Given the description of an element on the screen output the (x, y) to click on. 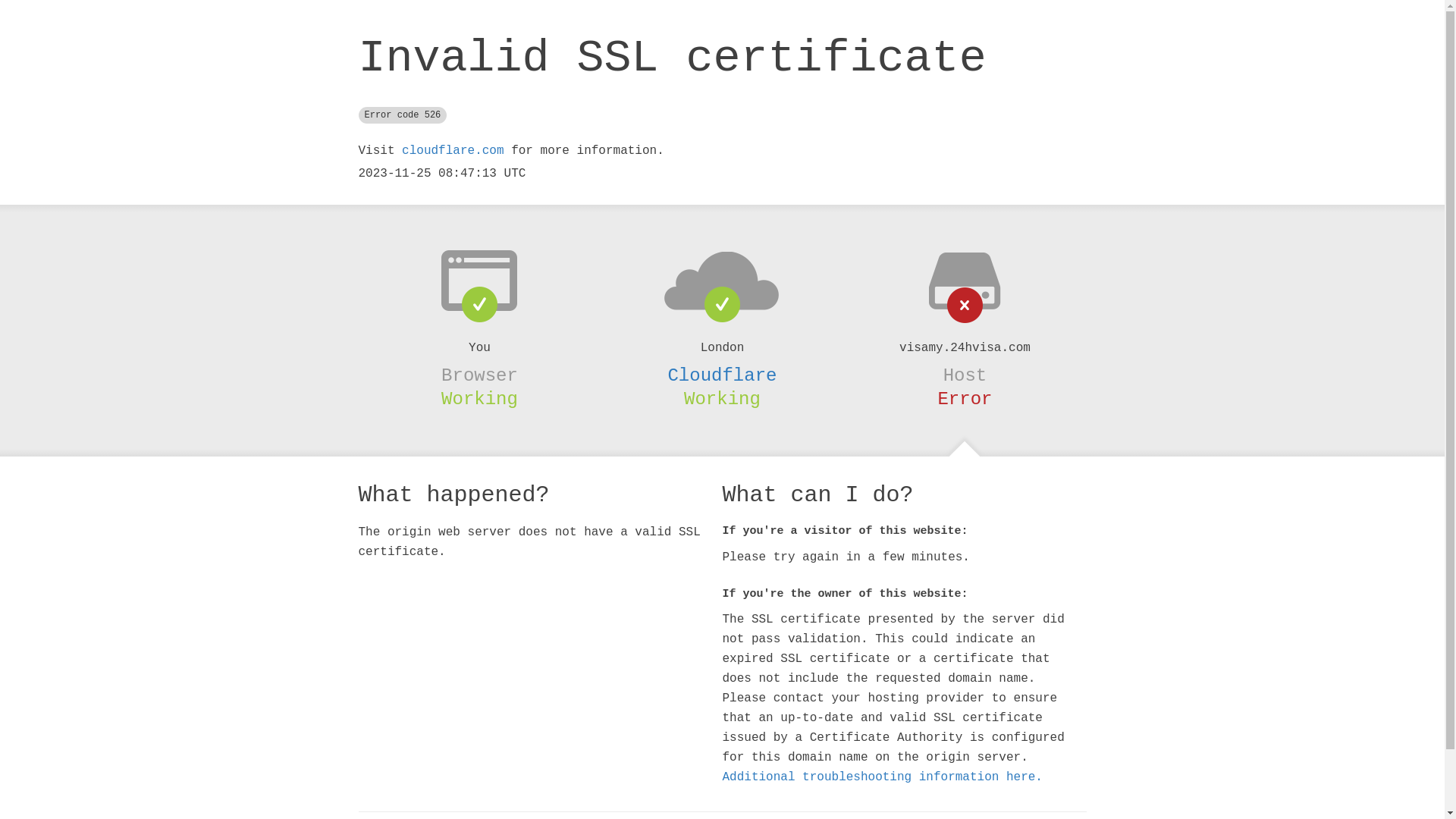
Cloudflare Element type: text (721, 375)
Additional troubleshooting information here. Element type: text (881, 777)
cloudflare.com Element type: text (452, 150)
